Given the description of an element on the screen output the (x, y) to click on. 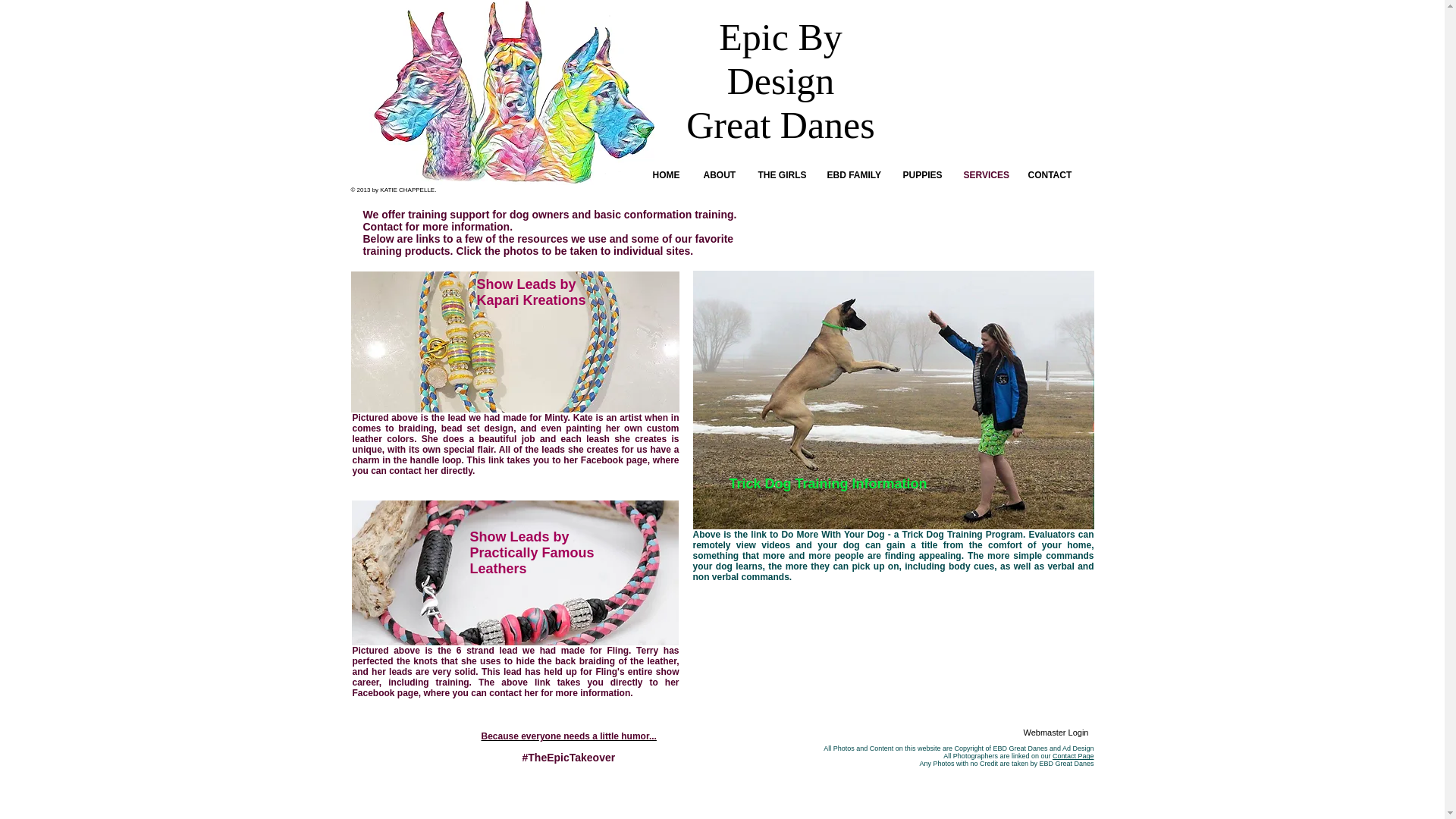
HOME (670, 174)
PUPPIES (925, 174)
Webmaster Login (1055, 732)
Contact Page (1073, 756)
EBD FAMILY (856, 174)
Because everyone needs a little humor... (568, 736)
CONTACT (1053, 174)
ABOUT (723, 174)
SERVICES (987, 174)
THE GIRLS (785, 174)
